Given the description of an element on the screen output the (x, y) to click on. 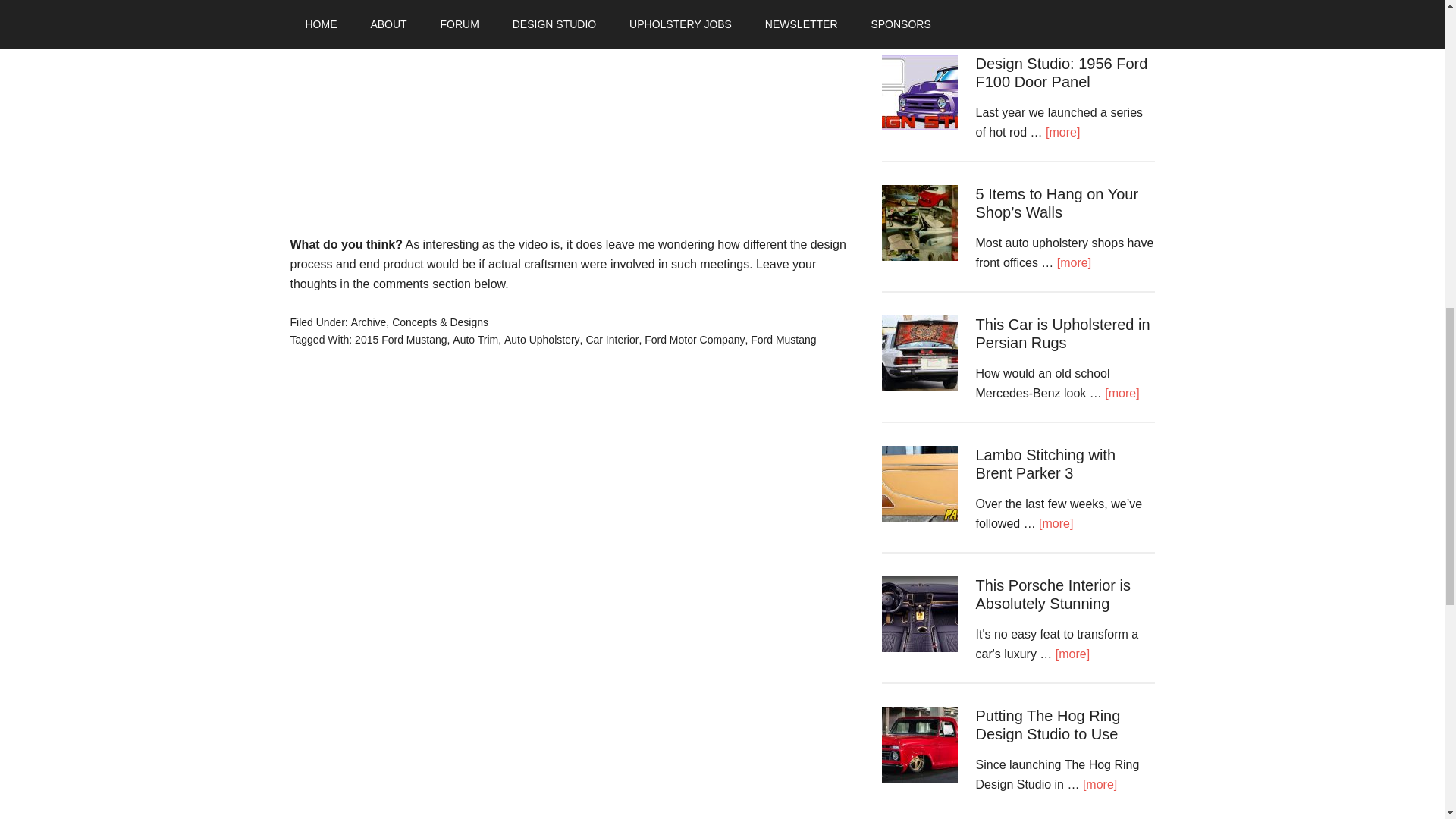
Car Interior (612, 339)
Ford Mustang (783, 339)
Ford Motor Company (694, 339)
Design Studio: 1956 Ford F100 Door Panel (1061, 72)
2015 Ford Mustang (400, 339)
Archive (368, 322)
Auto Upholstery (541, 339)
Auto Trim (474, 339)
